Given the description of an element on the screen output the (x, y) to click on. 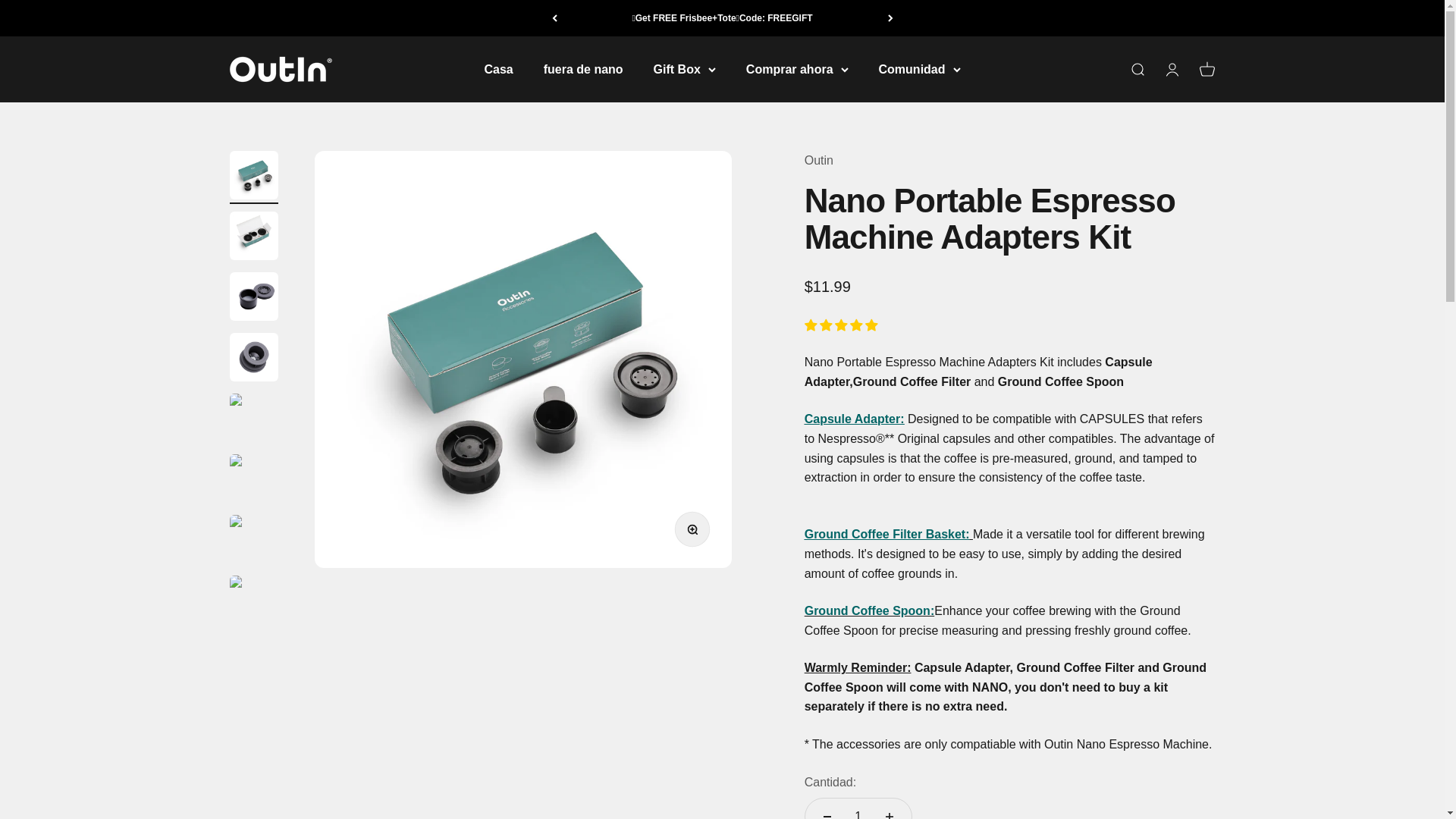
Outin (279, 69)
Casa (497, 69)
fuera de nano (583, 69)
